Given the description of an element on the screen output the (x, y) to click on. 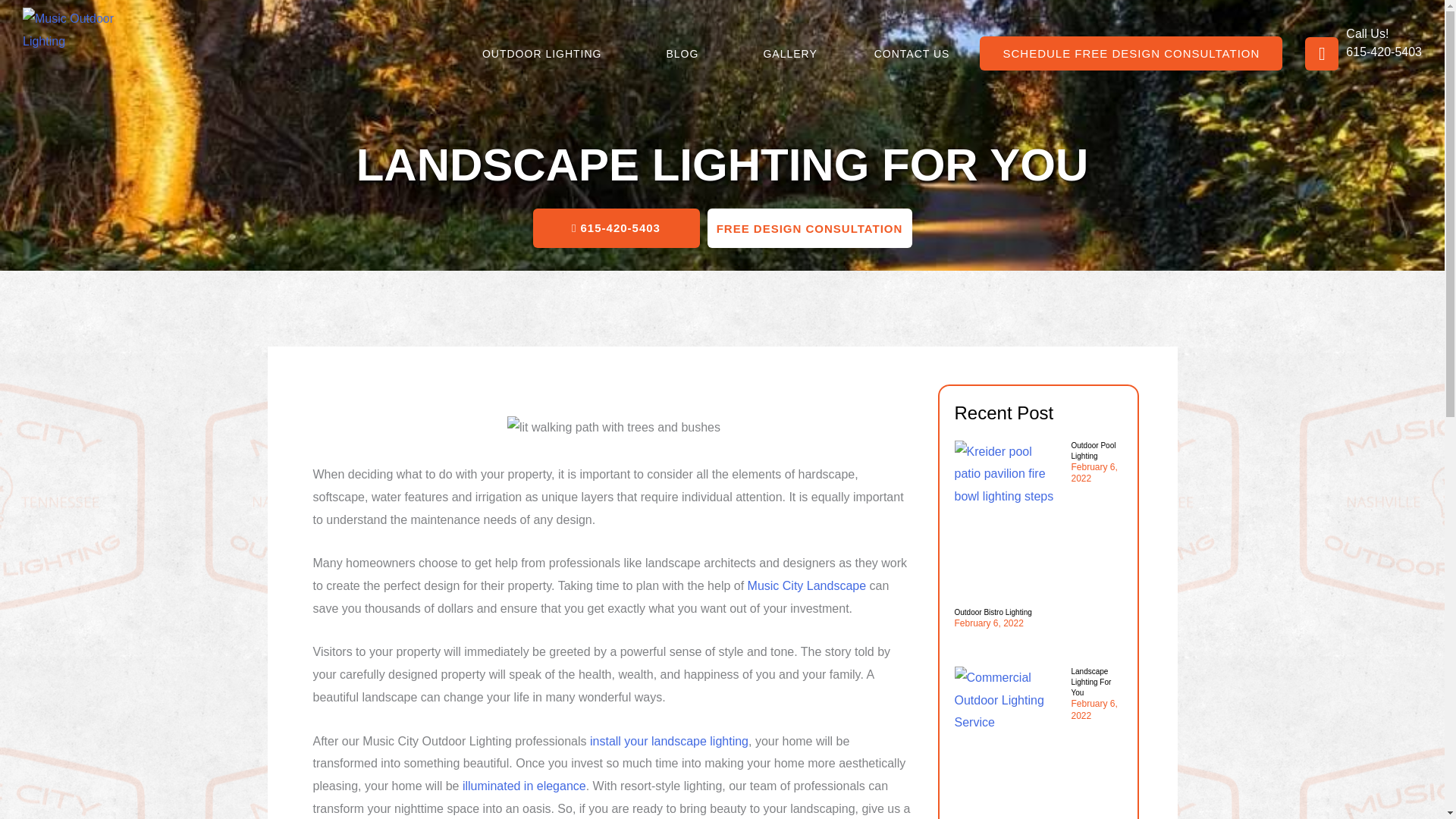
BLOG (685, 53)
615-420-5403 (1383, 51)
CONTACT US (916, 53)
SCHEDULE FREE DESIGN CONSULTATION (1130, 53)
OUTDOOR LIGHTING (545, 53)
GALLERY (789, 53)
